Given the description of an element on the screen output the (x, y) to click on. 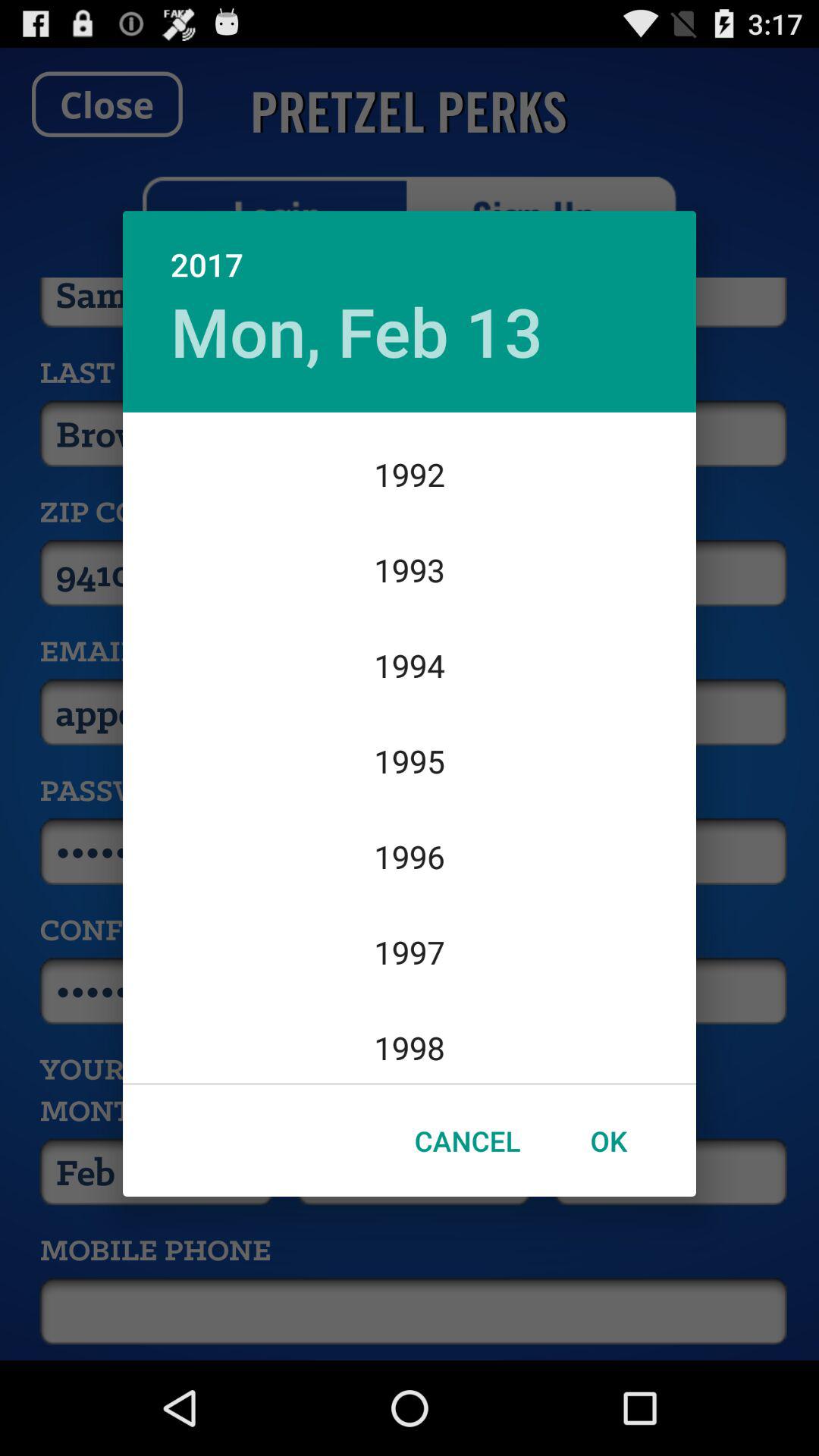
turn off mon, feb 13 item (356, 331)
